Given the description of an element on the screen output the (x, y) to click on. 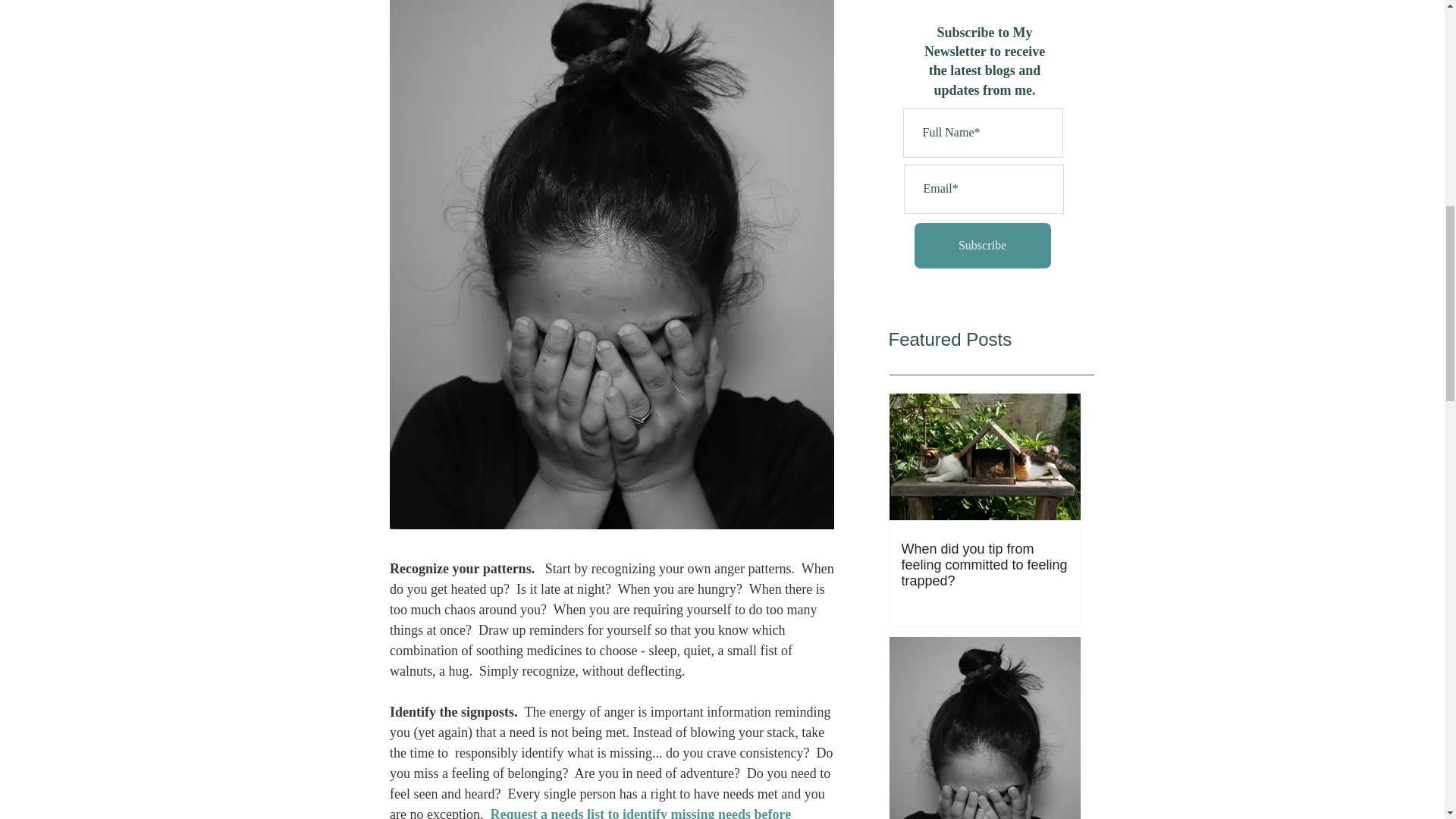
When did you tip from feeling committed to feeling trapped?  (984, 564)
Subscribe (982, 245)
